Given the description of an element on the screen output the (x, y) to click on. 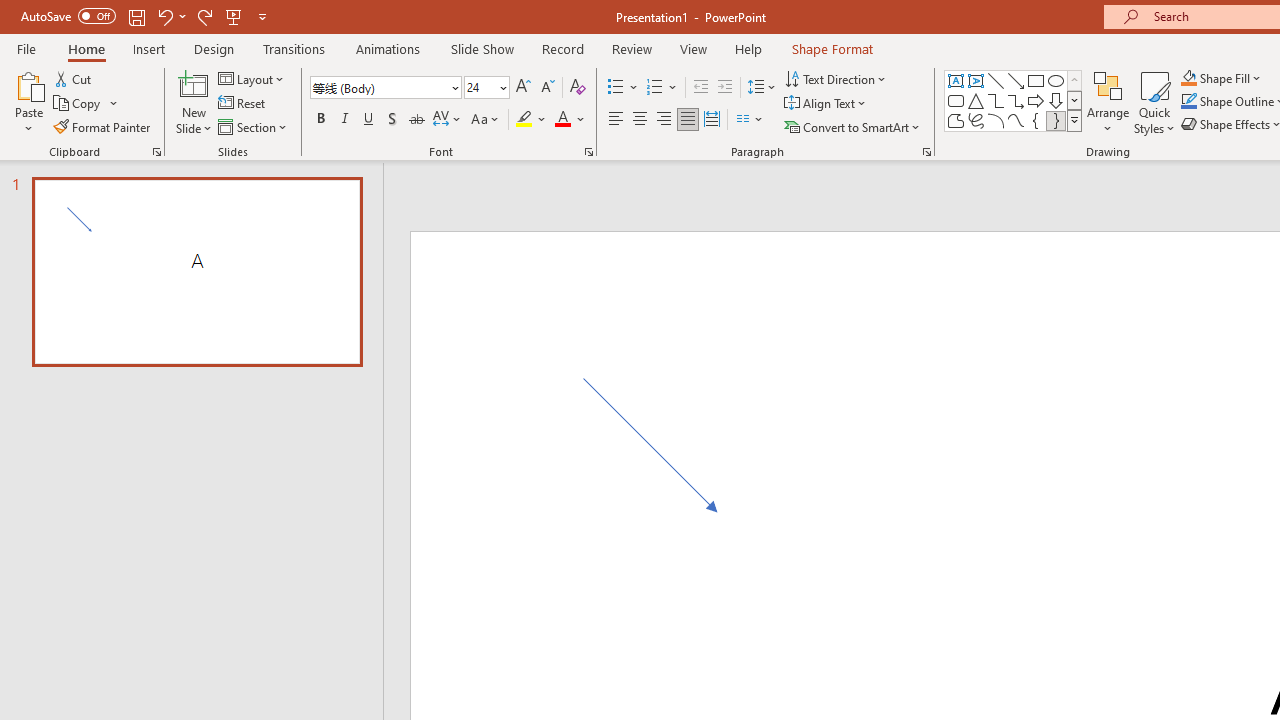
Justify (687, 119)
Text Highlight Color Yellow (524, 119)
Arc (995, 120)
AutomationID: ShapesInsertGallery (1014, 100)
Left Brace (1035, 120)
Shadow (392, 119)
Format Painter (103, 126)
Align Text (826, 103)
Center (639, 119)
Shape Fill Orange, Accent 2 (1188, 78)
Layout (252, 78)
Change Case (486, 119)
